Given the description of an element on the screen output the (x, y) to click on. 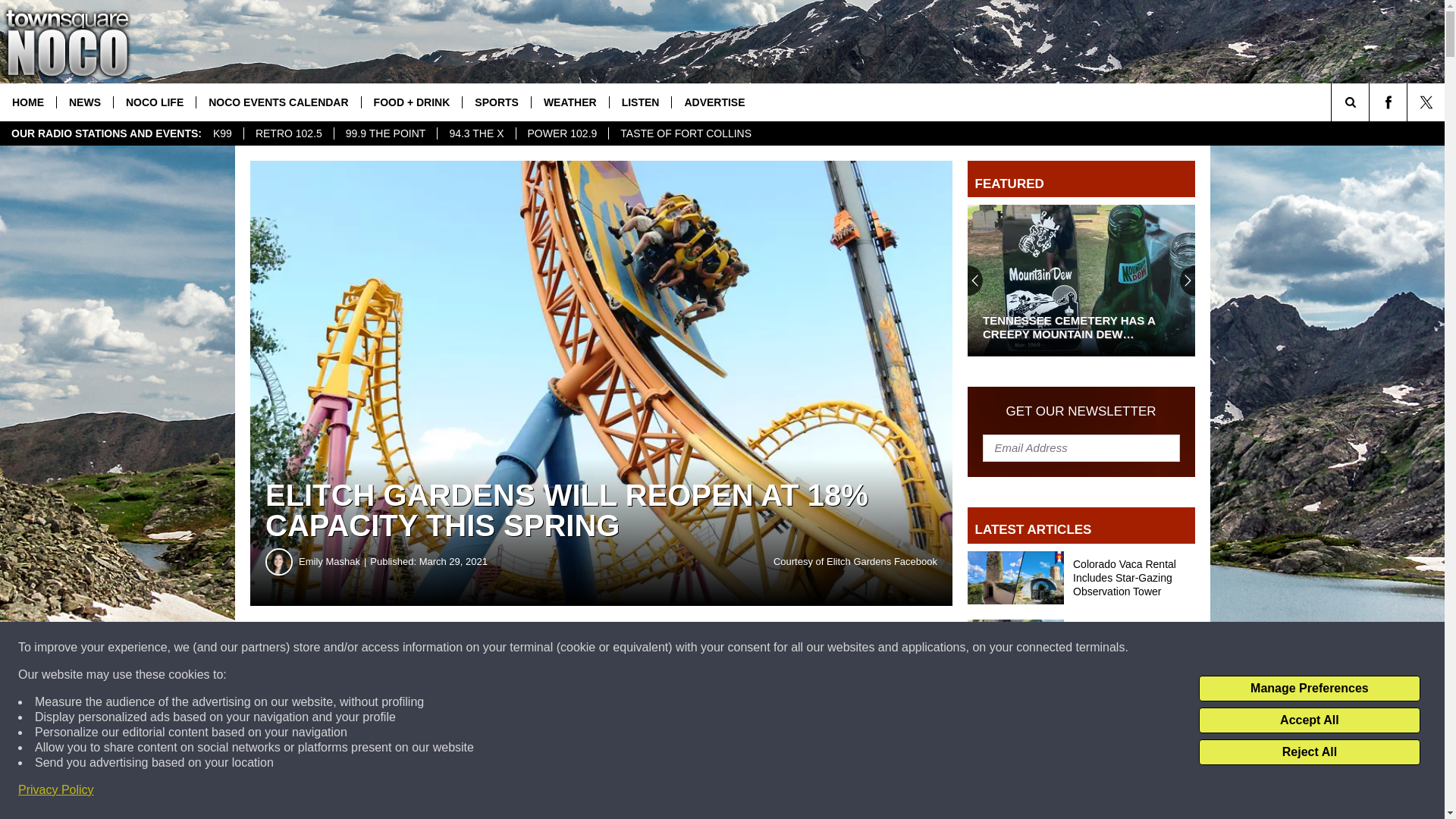
NEWS (84, 102)
SEARCH (1371, 102)
SEARCH (1371, 102)
99.9 THE POINT (385, 133)
RETRO 102.5 (288, 133)
Share on Facebook (460, 647)
WEATHER (569, 102)
Accept All (1309, 720)
ADVERTISE (714, 102)
LISTEN (639, 102)
Privacy Policy (55, 789)
NOCO LIFE (154, 102)
K99 (222, 133)
TASTE OF FORT COLLINS (685, 133)
Reject All (1309, 751)
